Given the description of an element on the screen output the (x, y) to click on. 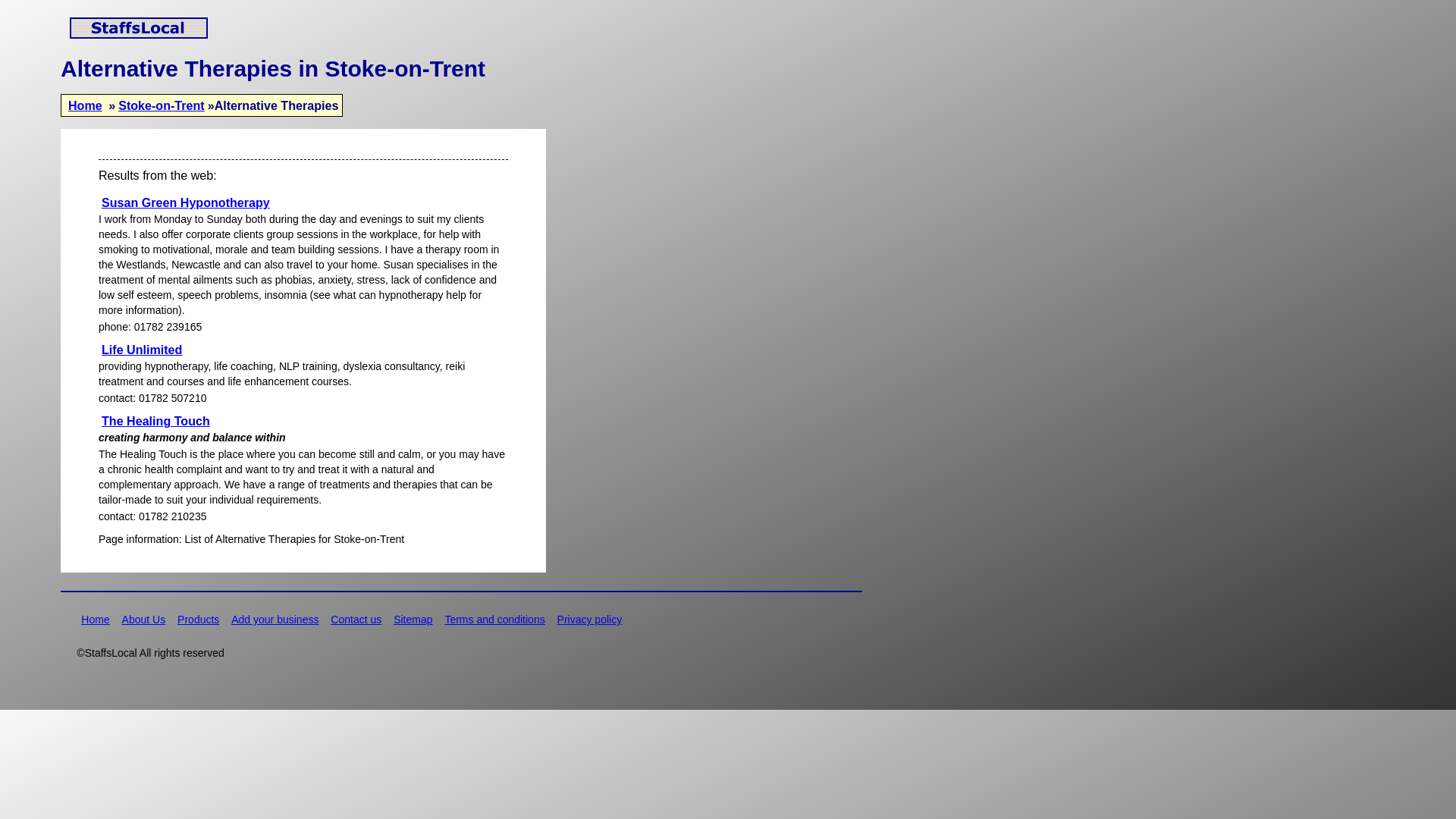
Home (84, 105)
Add your business (274, 619)
Privacy policy (590, 619)
Products (198, 619)
Stoke-on-Trent (161, 105)
The Healing Touch (155, 420)
Terms and conditions (494, 619)
Susan Green Hyponotherapy (186, 202)
Life Unlimited (141, 349)
About Us (143, 619)
Home (95, 619)
Contact us (355, 619)
Sitemap (412, 619)
